Given the description of an element on the screen output the (x, y) to click on. 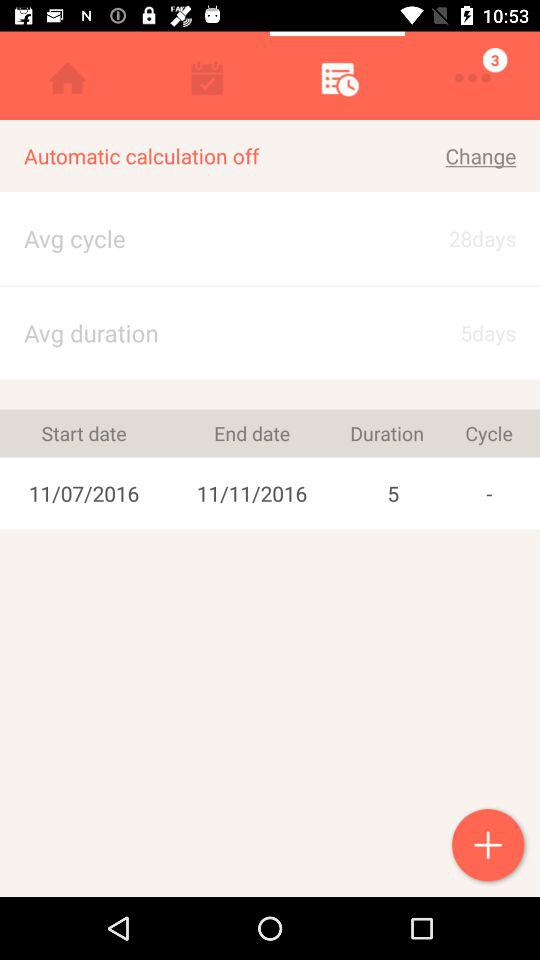
choose icon to the right of the 11/07/2016 (252, 433)
